Given the description of an element on the screen output the (x, y) to click on. 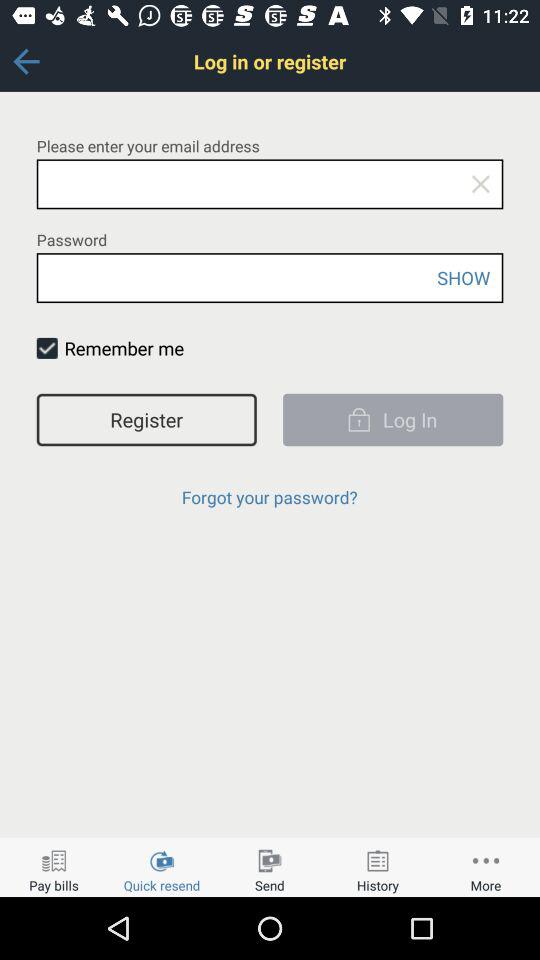
enter password (269, 278)
